Given the description of an element on the screen output the (x, y) to click on. 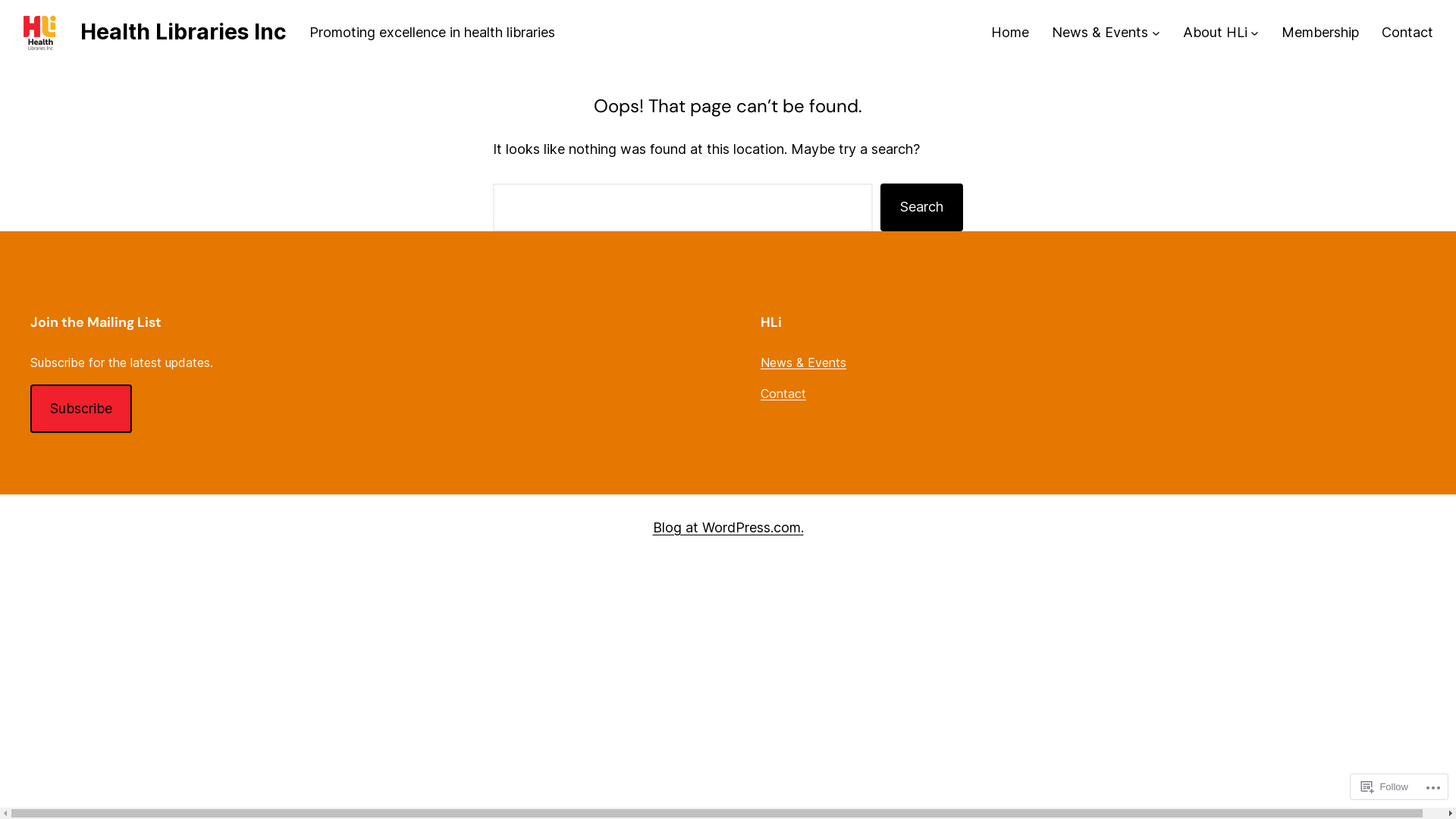
About HLi Element type: text (1215, 32)
Subscribe Element type: text (80, 408)
Home Element type: text (1010, 32)
Health Libraries Inc Element type: text (183, 31)
Follow Element type: text (1384, 786)
Contact Element type: text (1407, 32)
Membership Element type: text (1319, 32)
Search Element type: text (921, 207)
Blog at WordPress.com. Element type: text (727, 527)
News & Events Element type: text (1099, 32)
News & Events Element type: text (803, 362)
Contact Element type: text (783, 393)
